Given the description of an element on the screen output the (x, y) to click on. 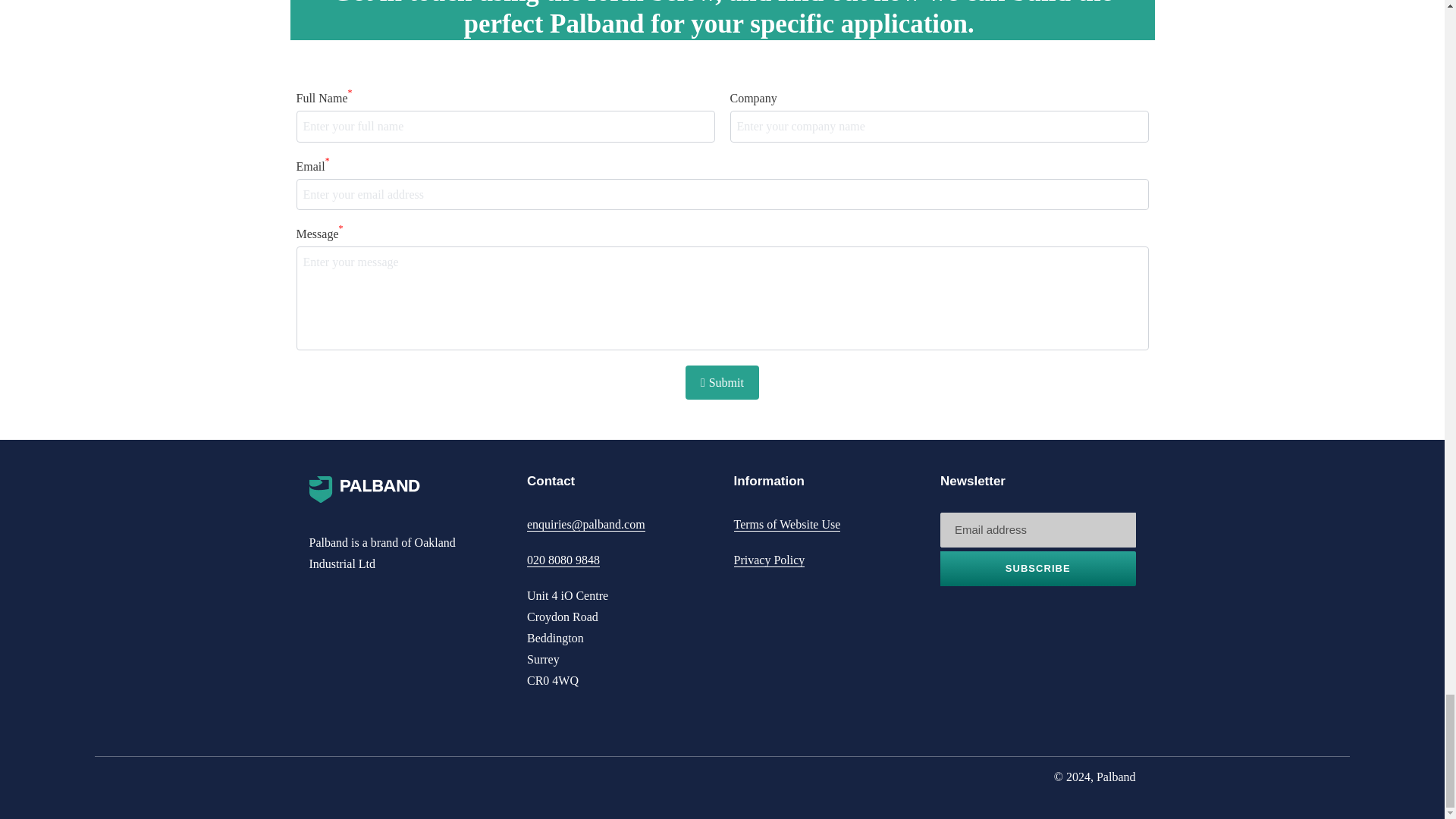
tel:020 8080 9848 (563, 560)
